Given the description of an element on the screen output the (x, y) to click on. 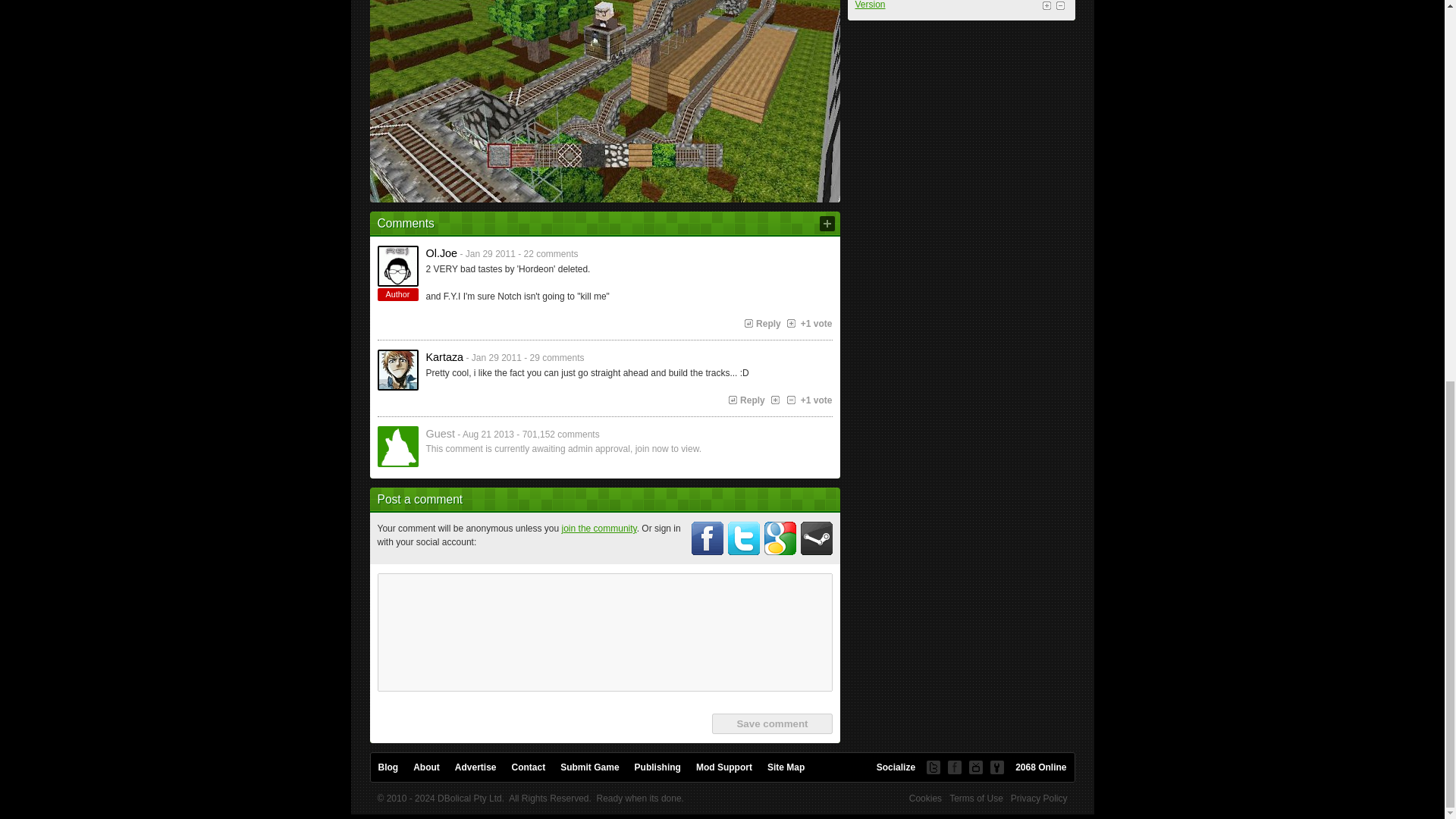
Save comment (771, 723)
Manic Digger - Ver 0.3c (604, 25)
